Given the description of an element on the screen output the (x, y) to click on. 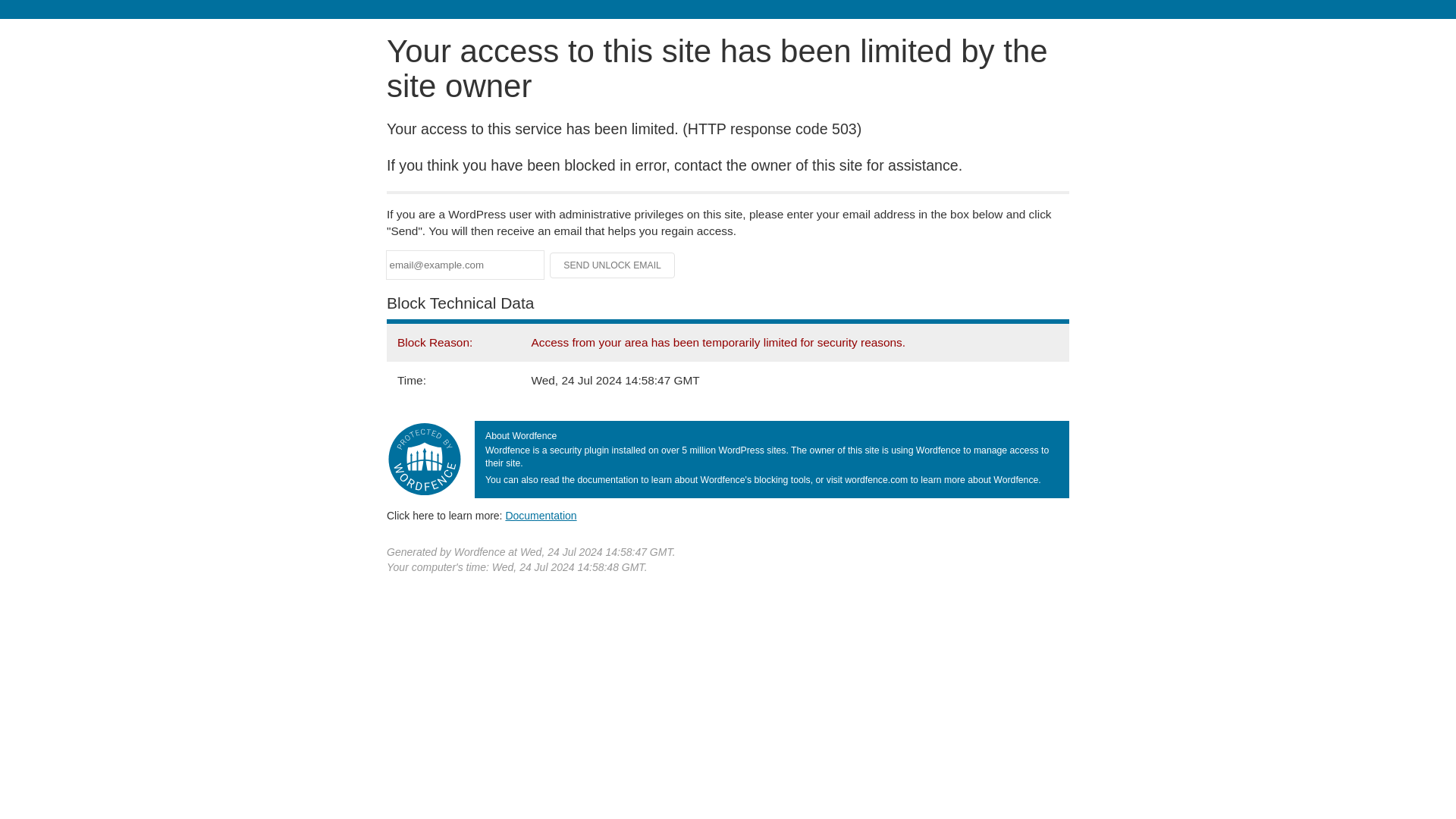
Send Unlock Email (612, 265)
Send Unlock Email (612, 265)
Documentation (540, 515)
